Given the description of an element on the screen output the (x, y) to click on. 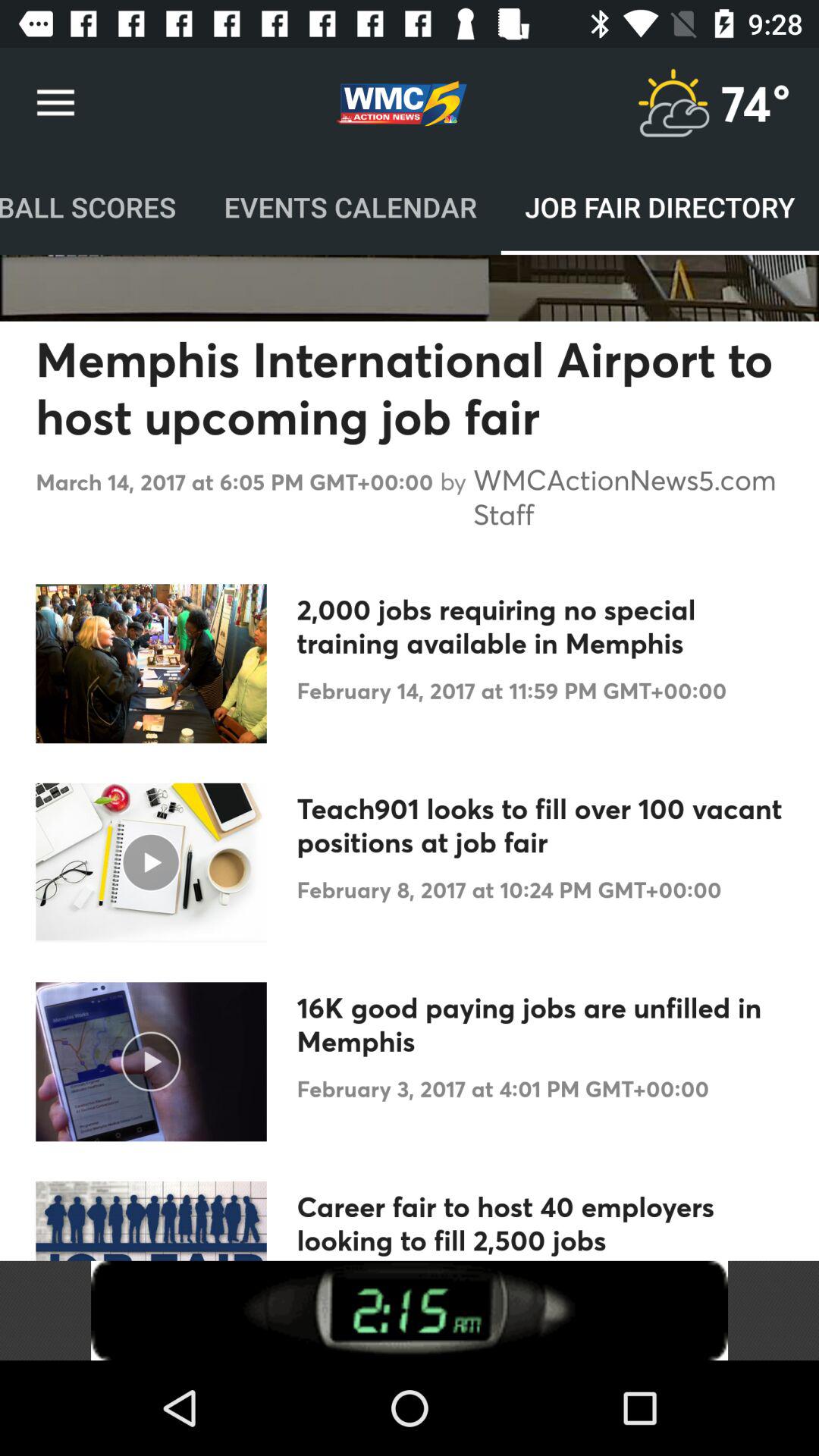
app timer pop up display (409, 1310)
